Given the description of an element on the screen output the (x, y) to click on. 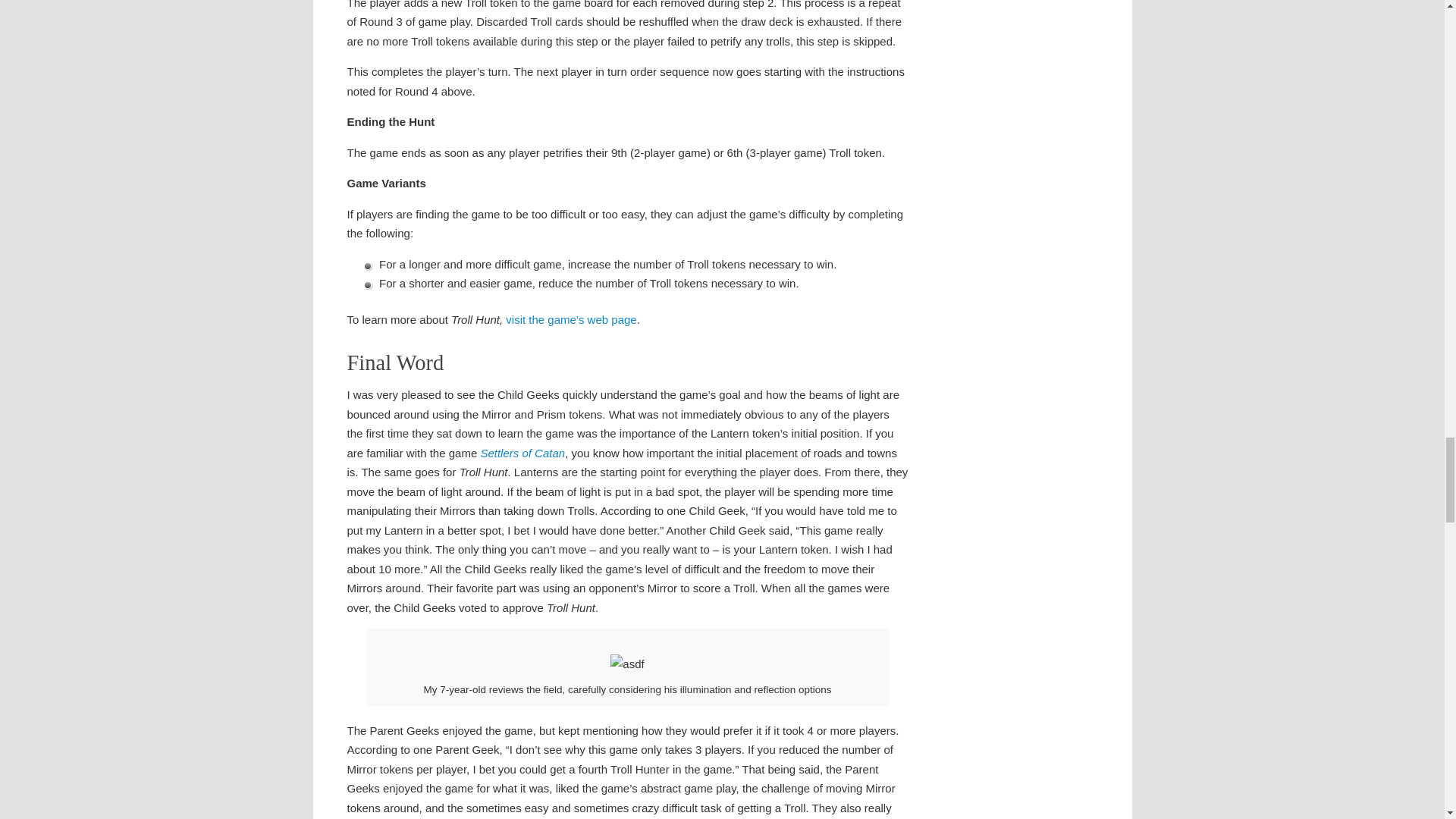
Settlers of Catan (522, 452)
